Given the description of an element on the screen output the (x, y) to click on. 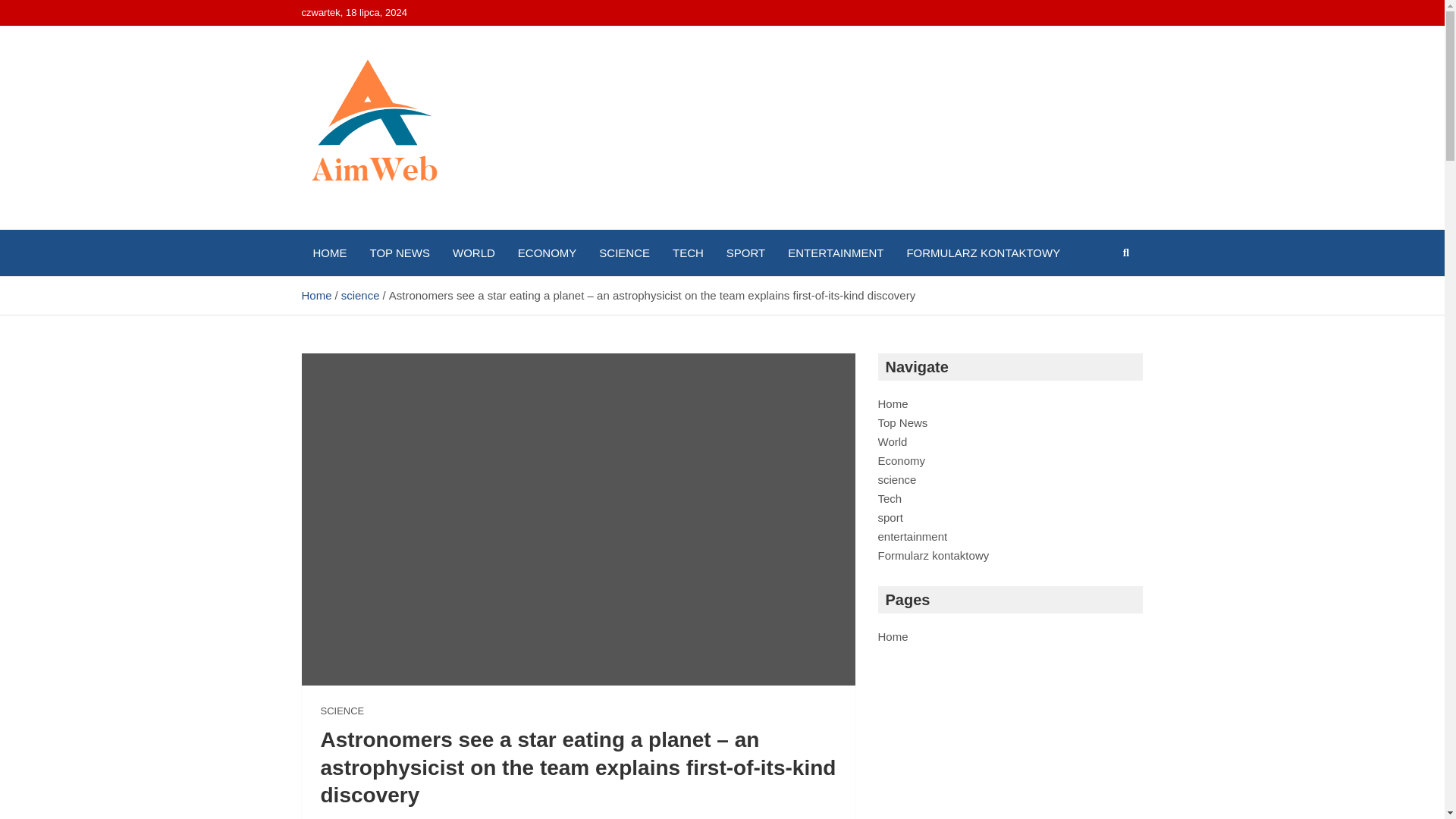
FORMULARZ KONTAKTOWY (983, 253)
ENTERTAINMENT (835, 253)
TECH (687, 253)
SPORT (745, 253)
science (360, 295)
ECONOMY (547, 253)
TOP NEWS (399, 253)
AimWeb (361, 226)
Home (316, 295)
HOME (329, 253)
SCIENCE (624, 253)
WORLD (473, 253)
10 maja, 2023 (355, 818)
SCIENCE (342, 711)
